Given the description of an element on the screen output the (x, y) to click on. 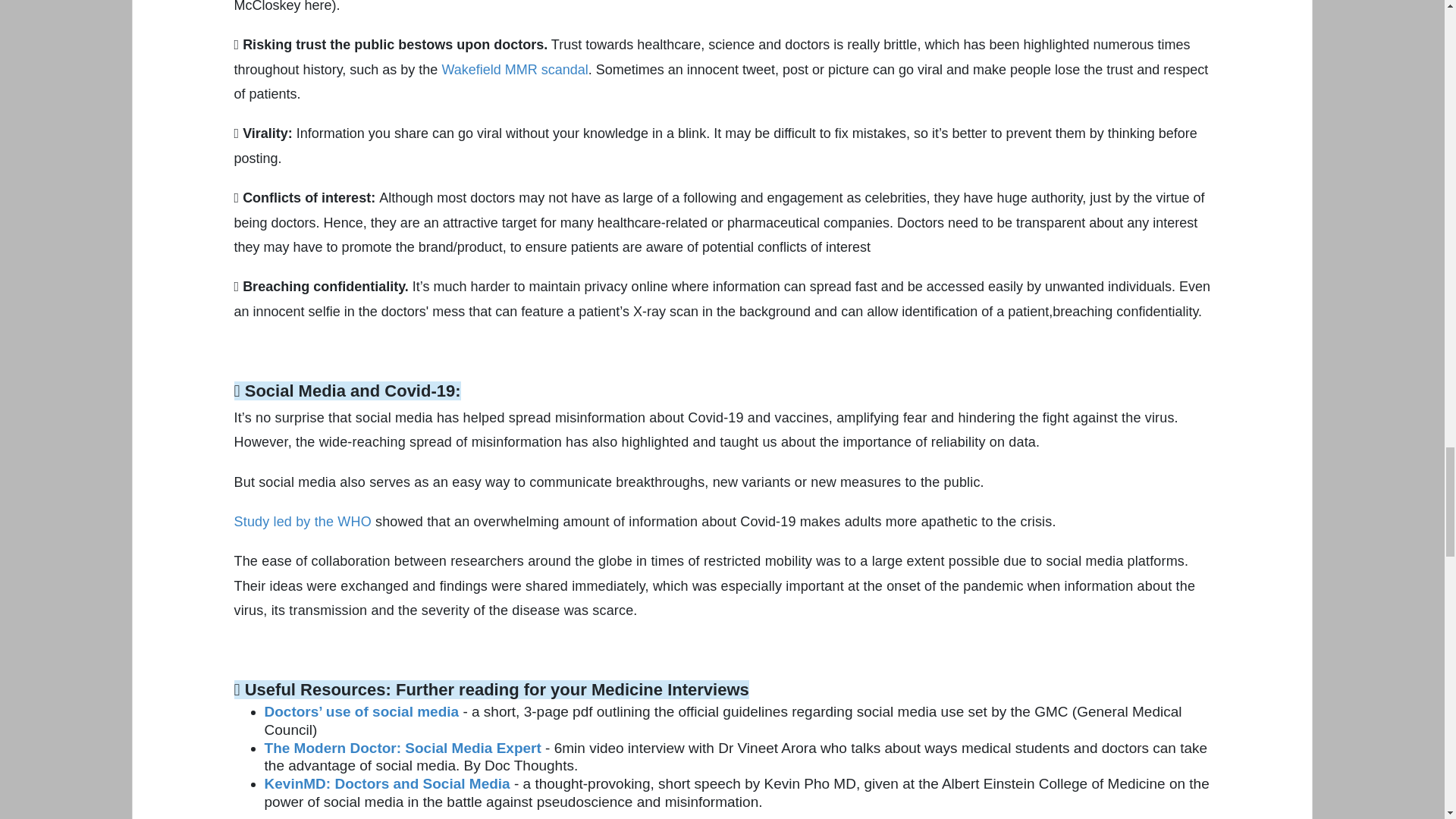
Study led by the WHO (302, 521)
here (317, 6)
KevinMD: Doctors and Social Media (387, 783)
Wakefield MMR scandal (514, 69)
The Modern Doctor: Social Media Expert (402, 747)
